Given the description of an element on the screen output the (x, y) to click on. 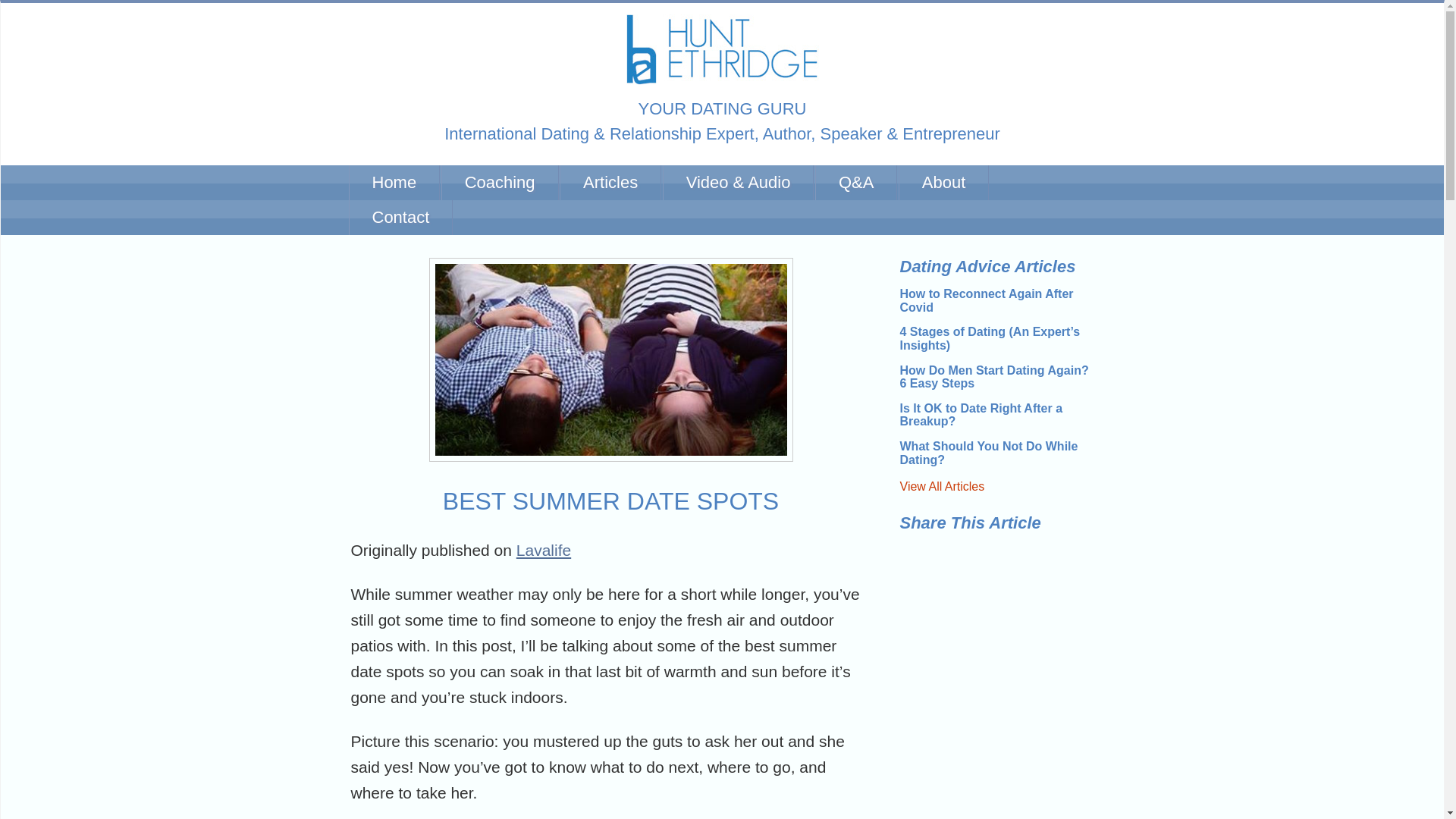
Is It OK to Date Right After a Breakup? (980, 415)
Coaching (500, 182)
How Do Men Start Dating Again? 6 Easy Steps (993, 376)
About (944, 182)
View All Articles (941, 486)
Contact (400, 217)
Home (395, 182)
How to Reconnect Again After Covid (986, 300)
Is It OK to Date Right After a Breakup? (980, 415)
